Given the description of an element on the screen output the (x, y) to click on. 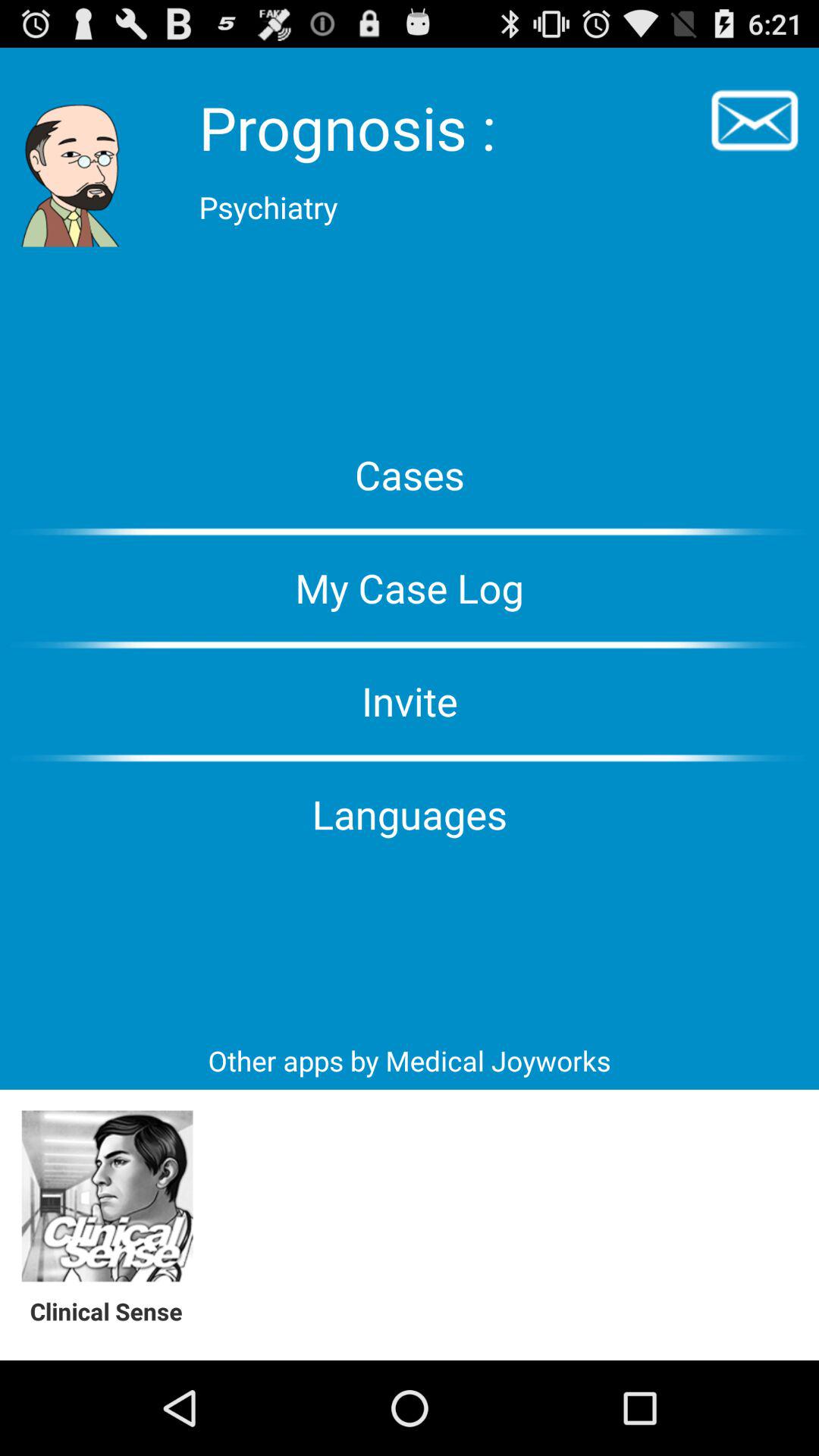
turn off the clinical sense item (114, 1311)
